Given the description of an element on the screen output the (x, y) to click on. 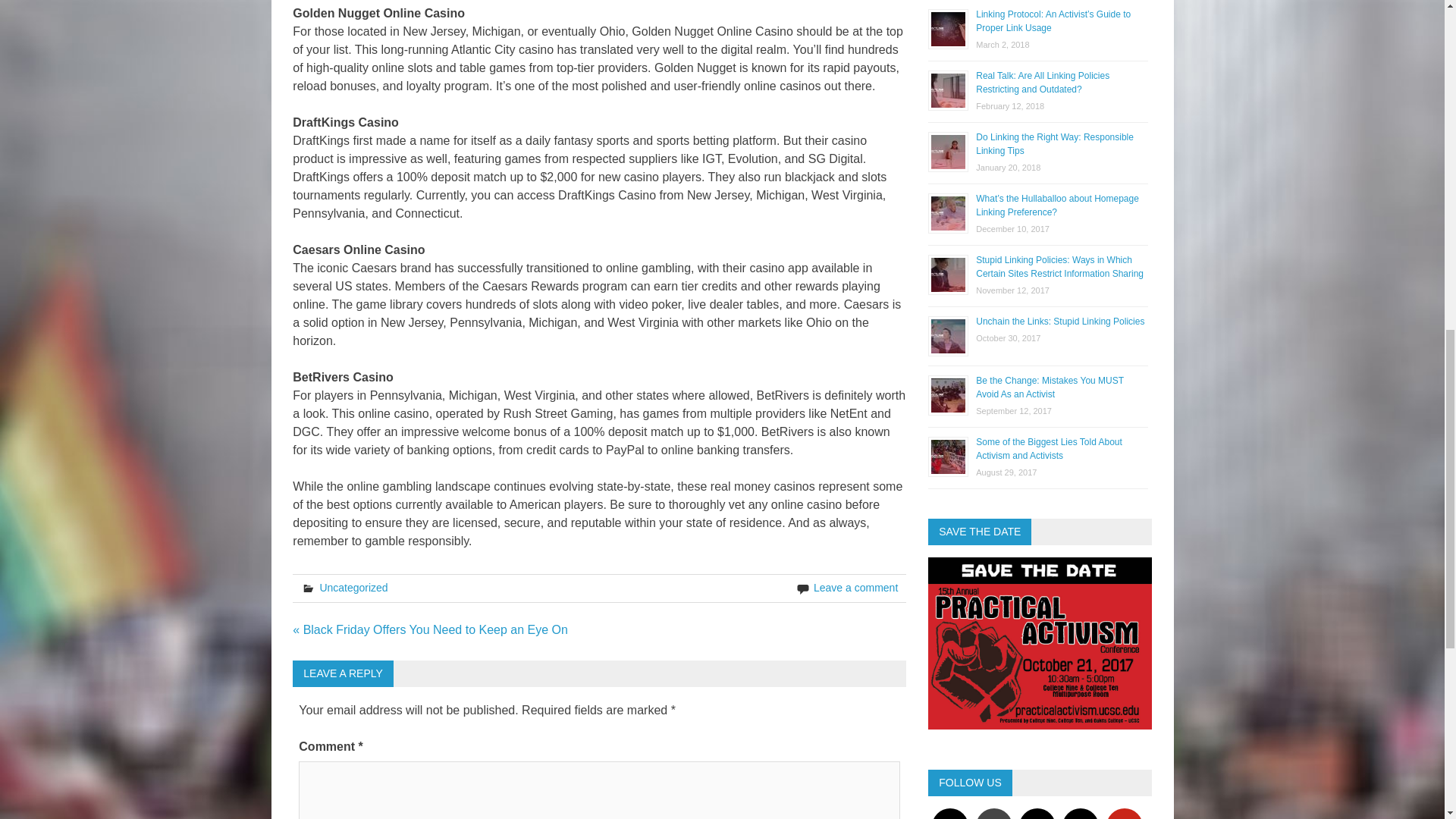
Uncategorized (352, 587)
WordPress (993, 813)
Ello (1037, 813)
Leave a comment (855, 587)
Do Linking the Right Way: Responsible Linking Tips (1054, 143)
Instagram (949, 813)
Permalink to Unchain the Links: Stupid Linking Policies (1059, 321)
